Given the description of an element on the screen output the (x, y) to click on. 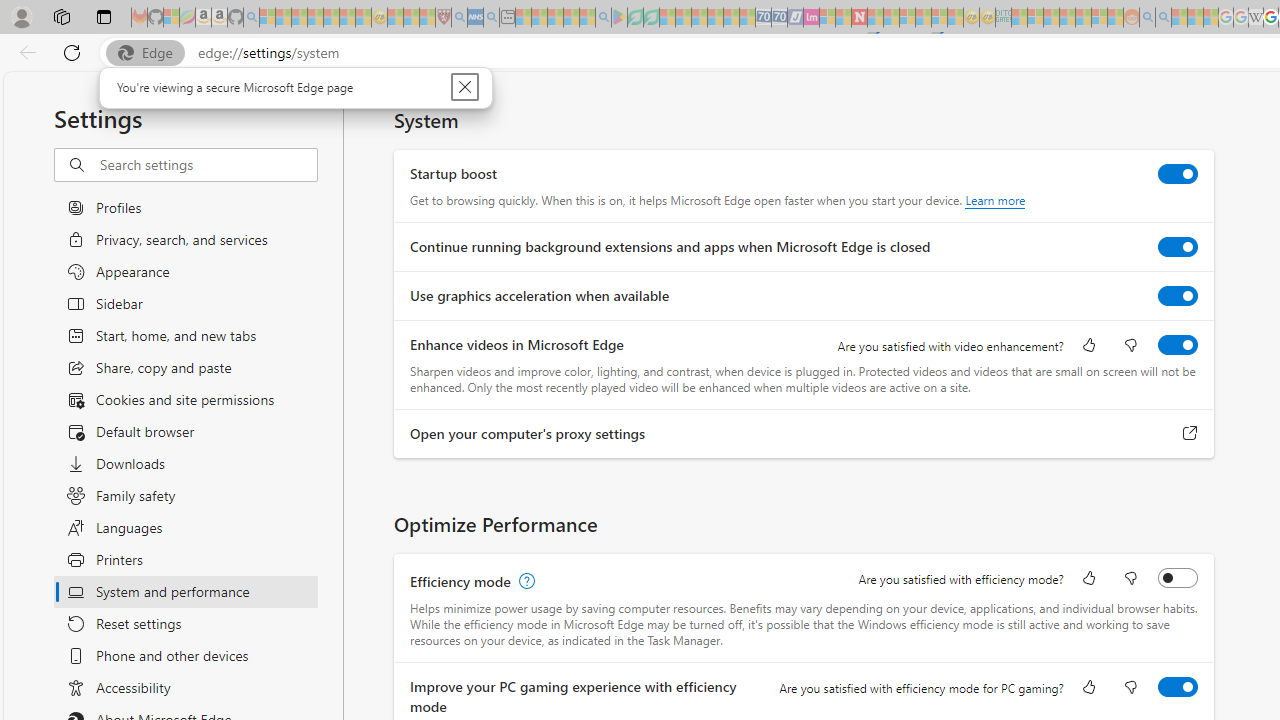
utah sues federal government - Search - Sleeping (491, 17)
Efficiency mode, learn more (523, 582)
Like (1089, 688)
